Given the description of an element on the screen output the (x, y) to click on. 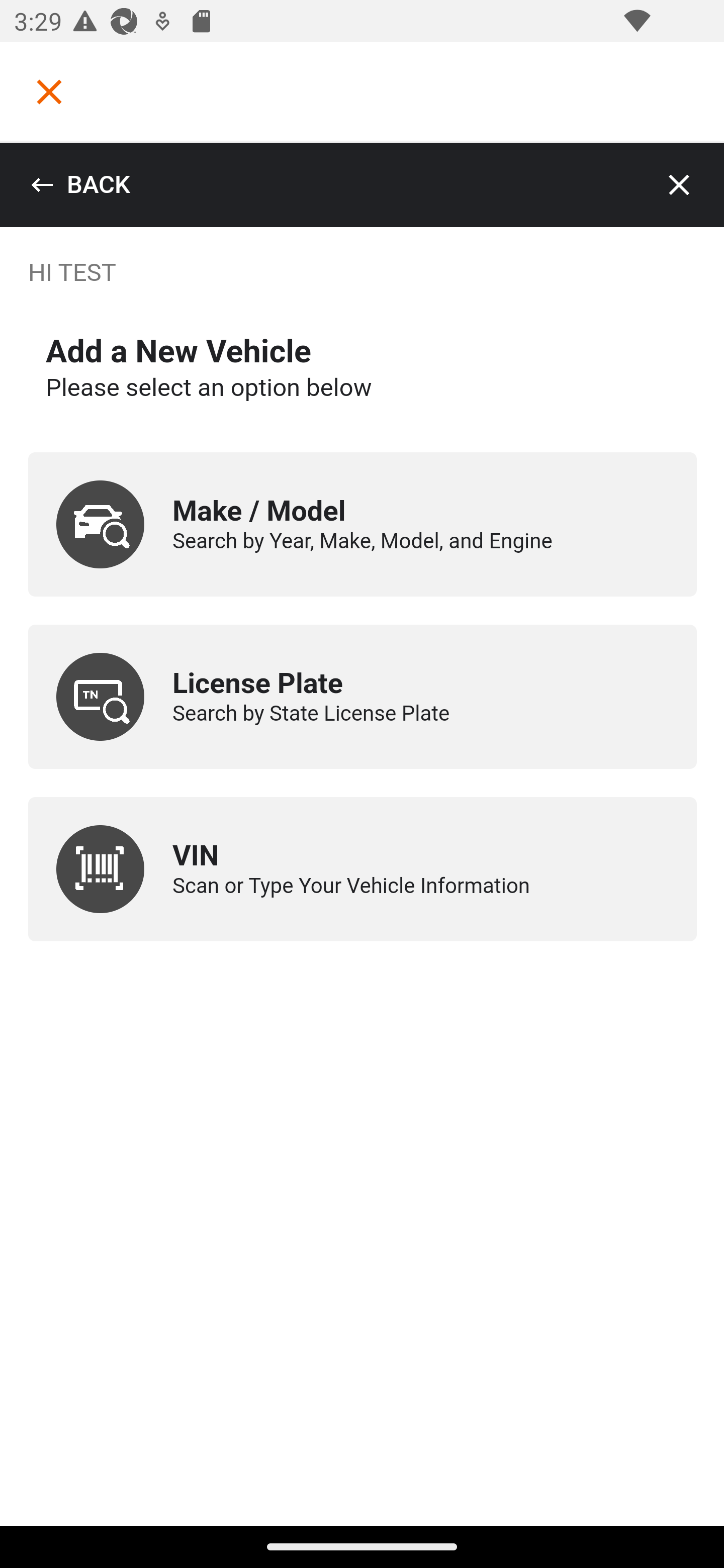
 (49, 91)
BACK (79, 184)
Close (679, 184)
License Plate Search by State License Plate (363, 696)
VIN Scan or Type Your Vehicle Information (363, 869)
